Given the description of an element on the screen output the (x, y) to click on. 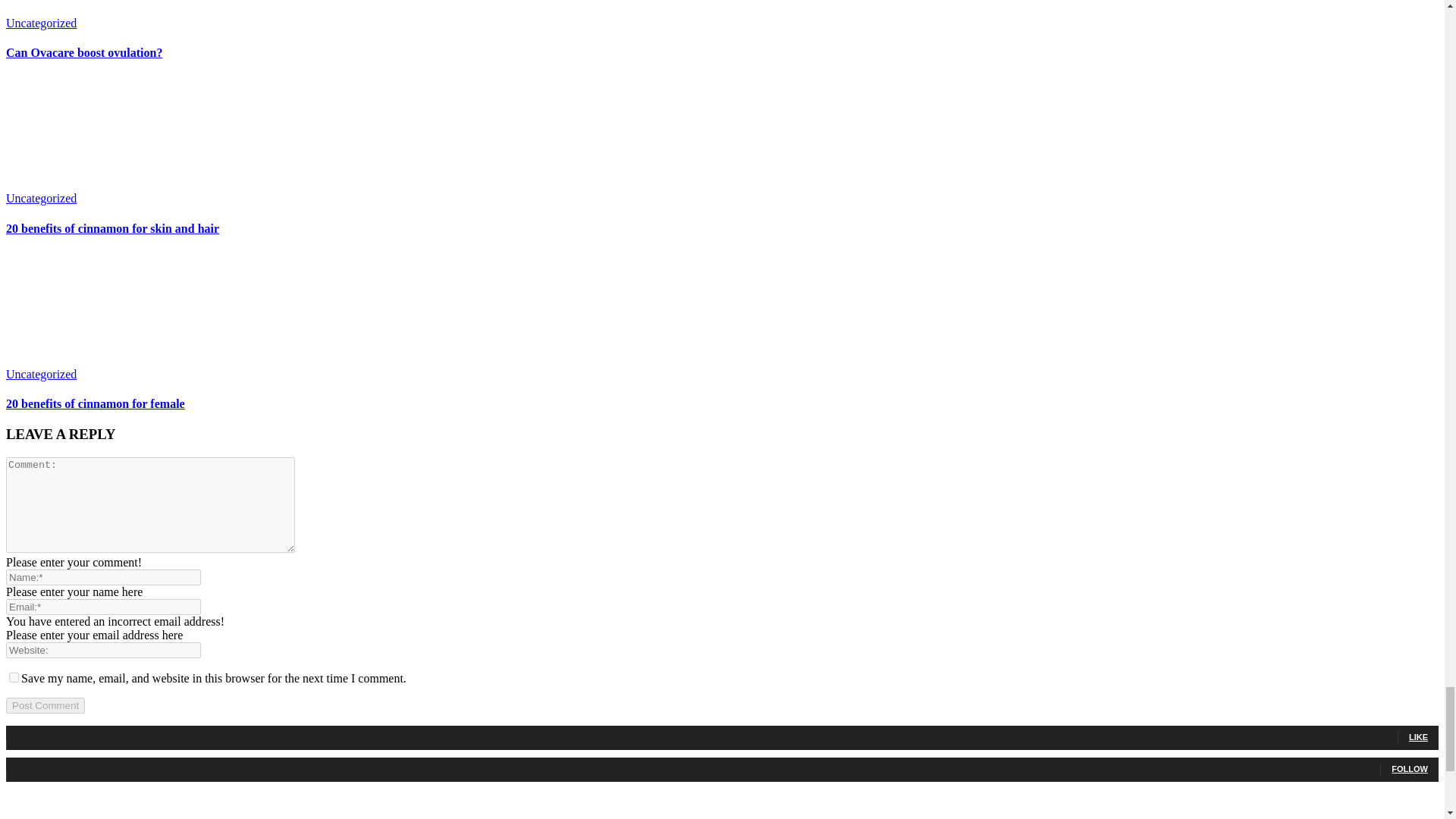
yes (13, 677)
Post Comment (44, 705)
